Given the description of an element on the screen output the (x, y) to click on. 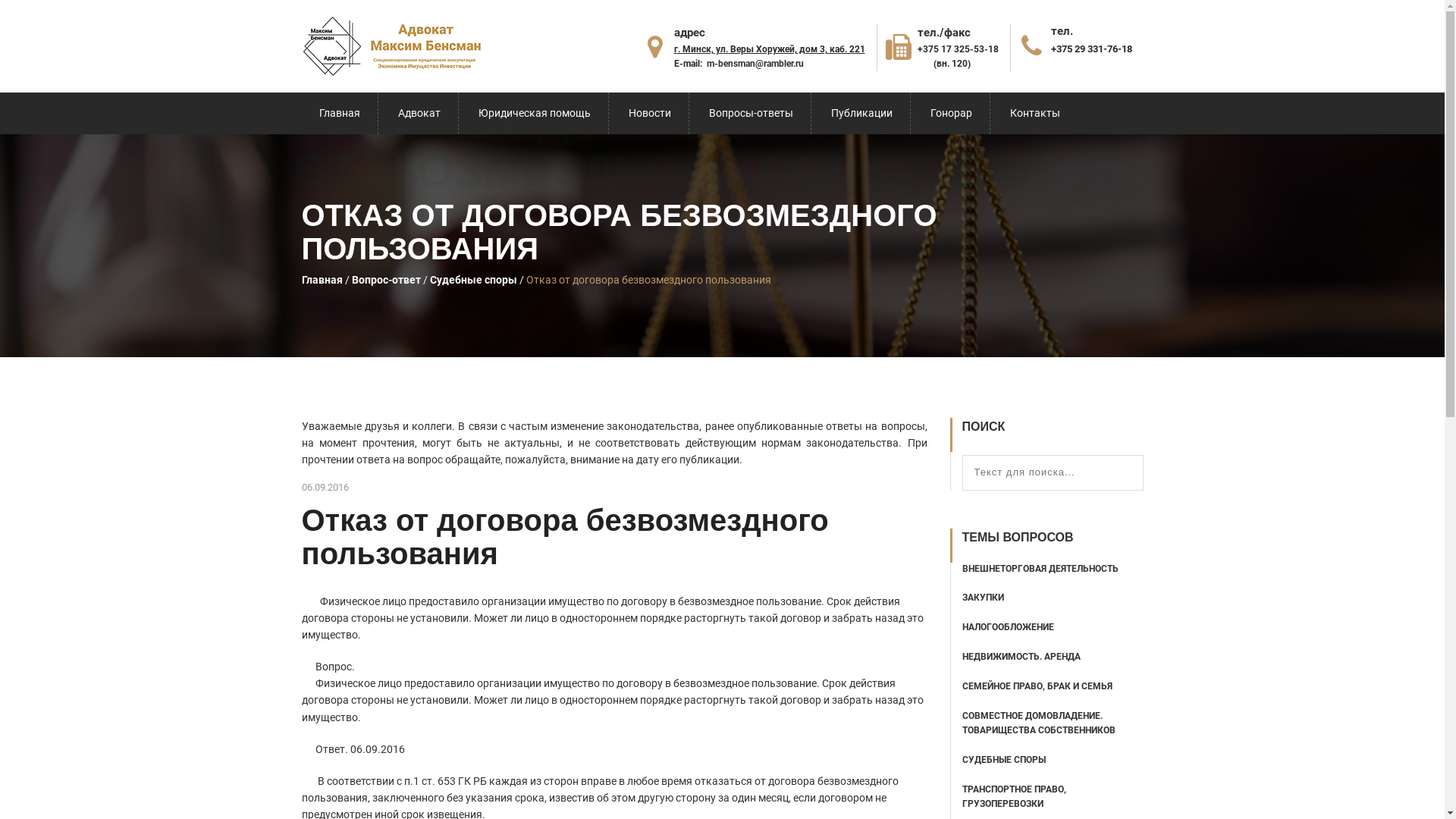
m Element type: text (710, 63)
-bensman@rambler.ru Element type: text (758, 63)
